Given the description of an element on the screen output the (x, y) to click on. 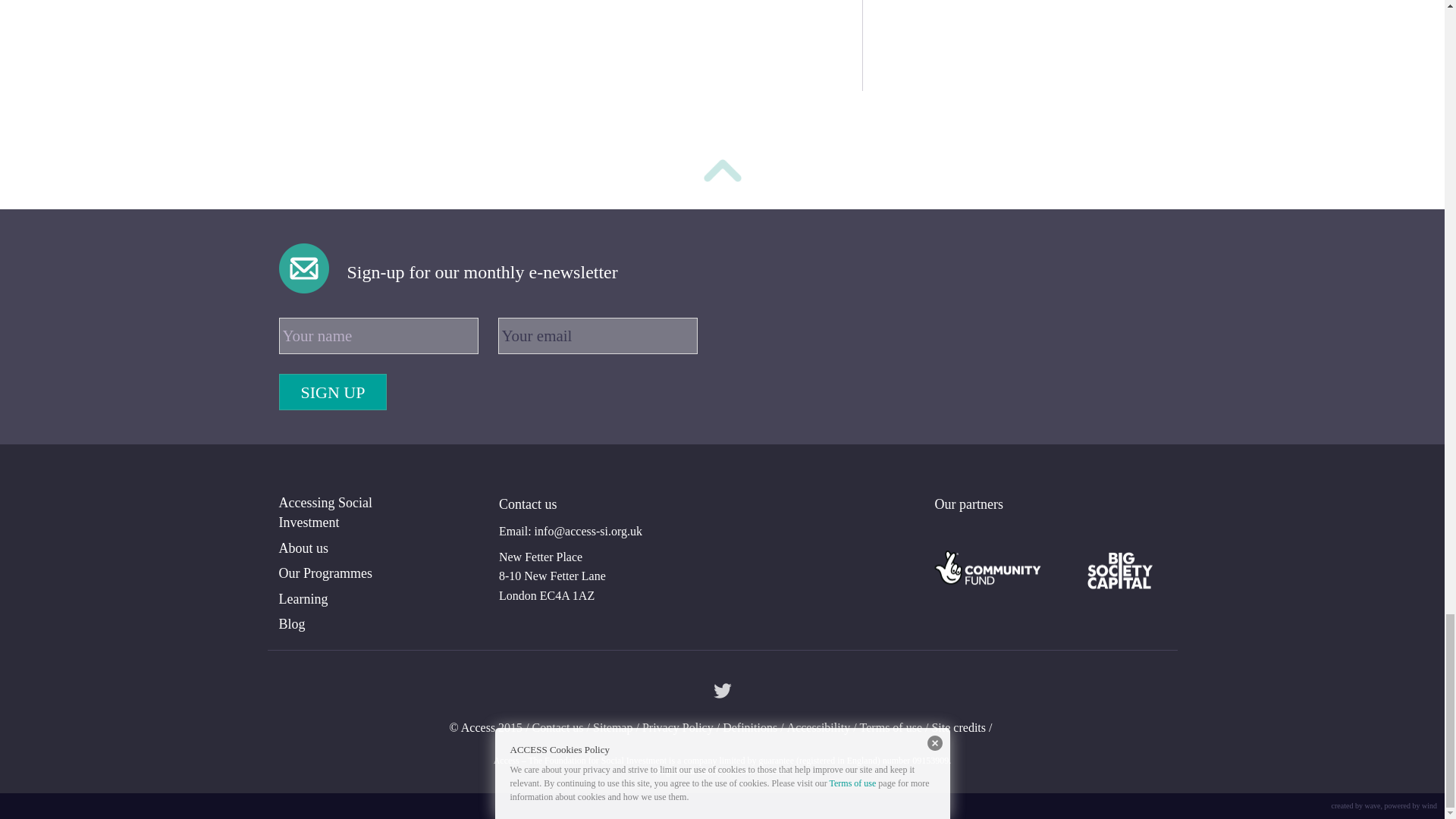
Your name (379, 335)
back to top (722, 172)
Your email (597, 335)
SIGN UP (333, 391)
